Given the description of an element on the screen output the (x, y) to click on. 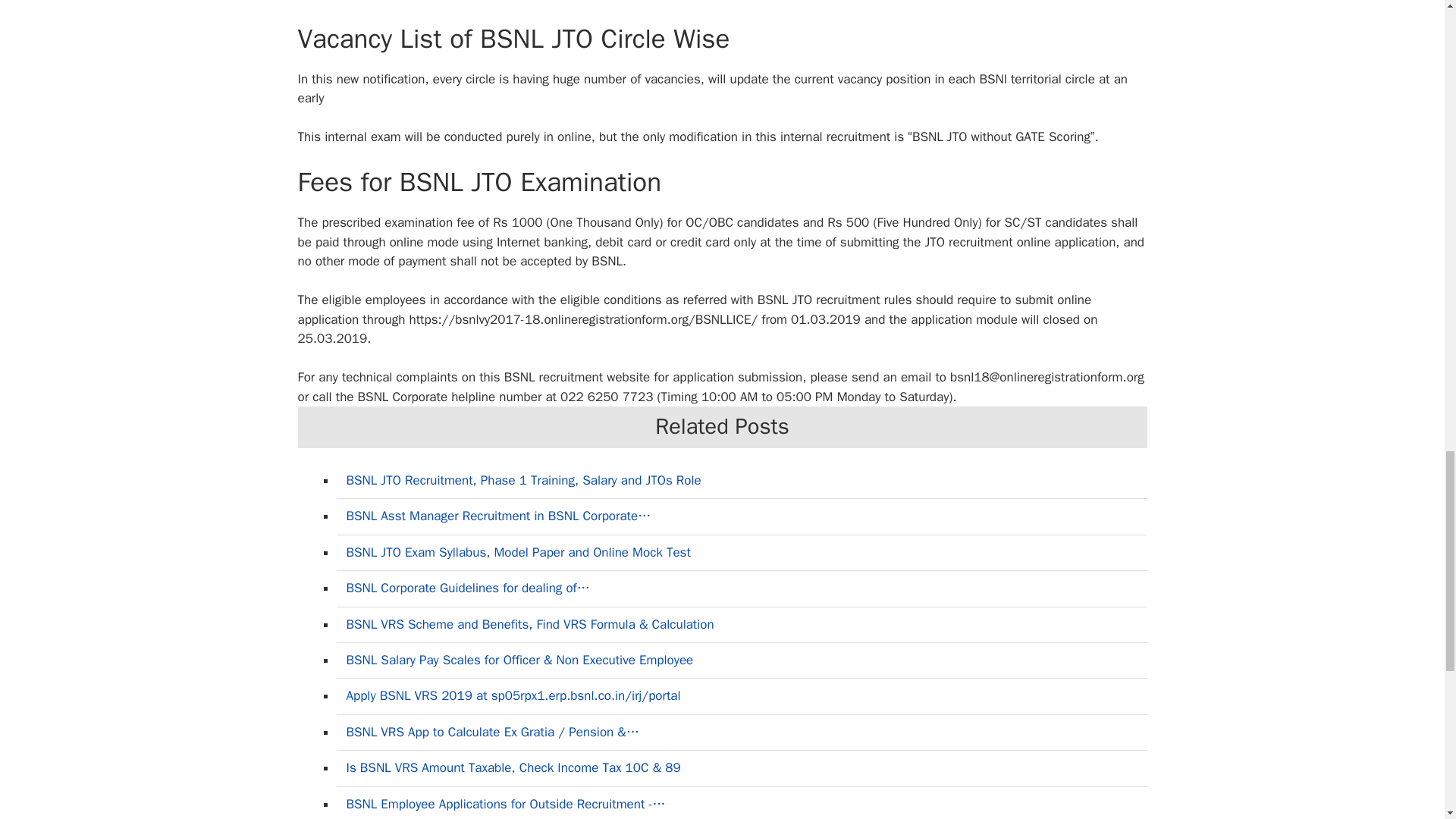
BSNL JTO Exam Syllabus, Model Paper and Online Mock Test (518, 552)
BSNL JTO Recruitment, Phase 1 Training, Salary and JTOs Role (523, 480)
